Given the description of an element on the screen output the (x, y) to click on. 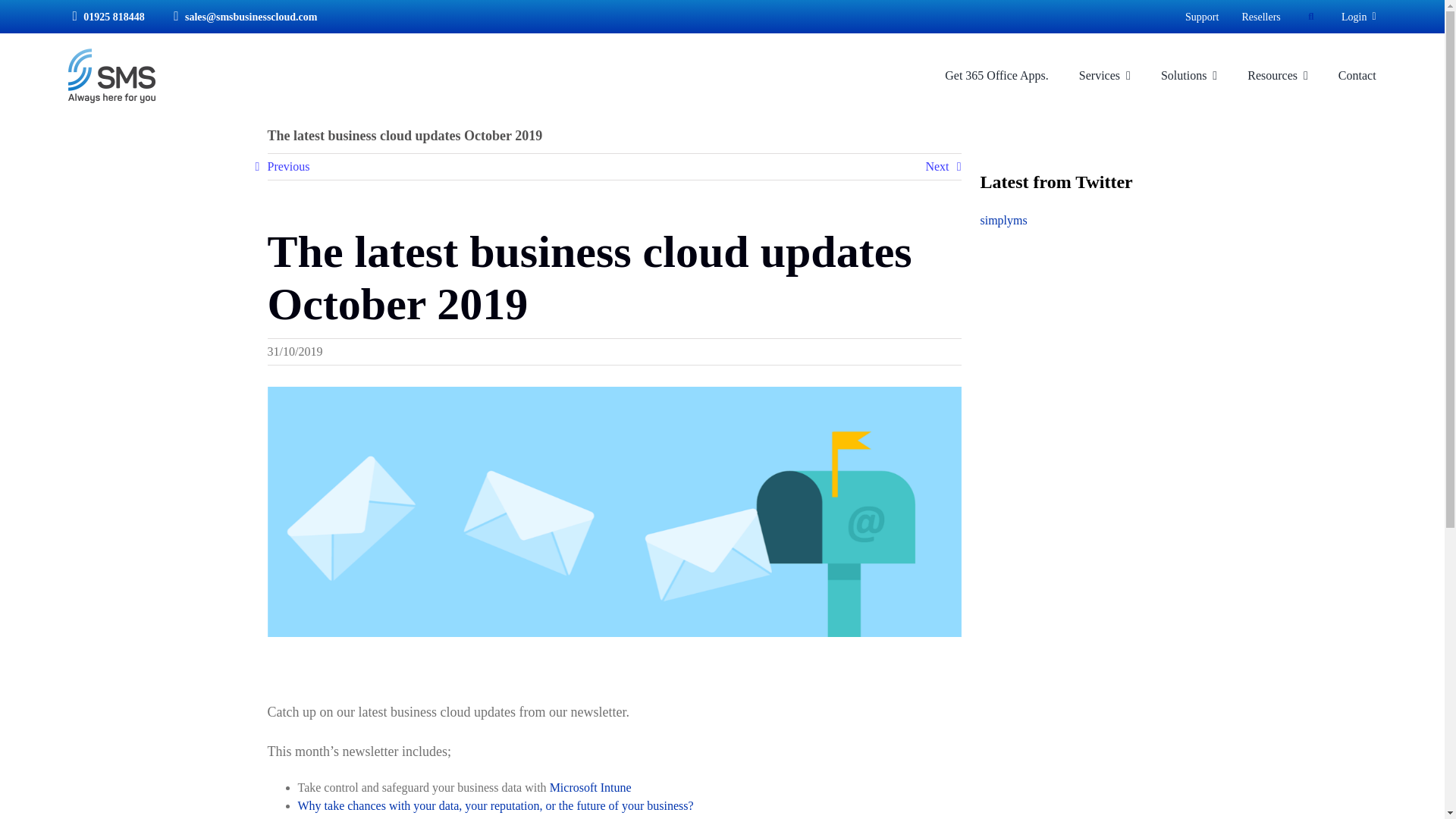
Logo dark - SMS (111, 75)
Resellers (1260, 15)
01925 818448 (104, 15)
Support (1201, 15)
Login (1357, 15)
